Given the description of an element on the screen output the (x, y) to click on. 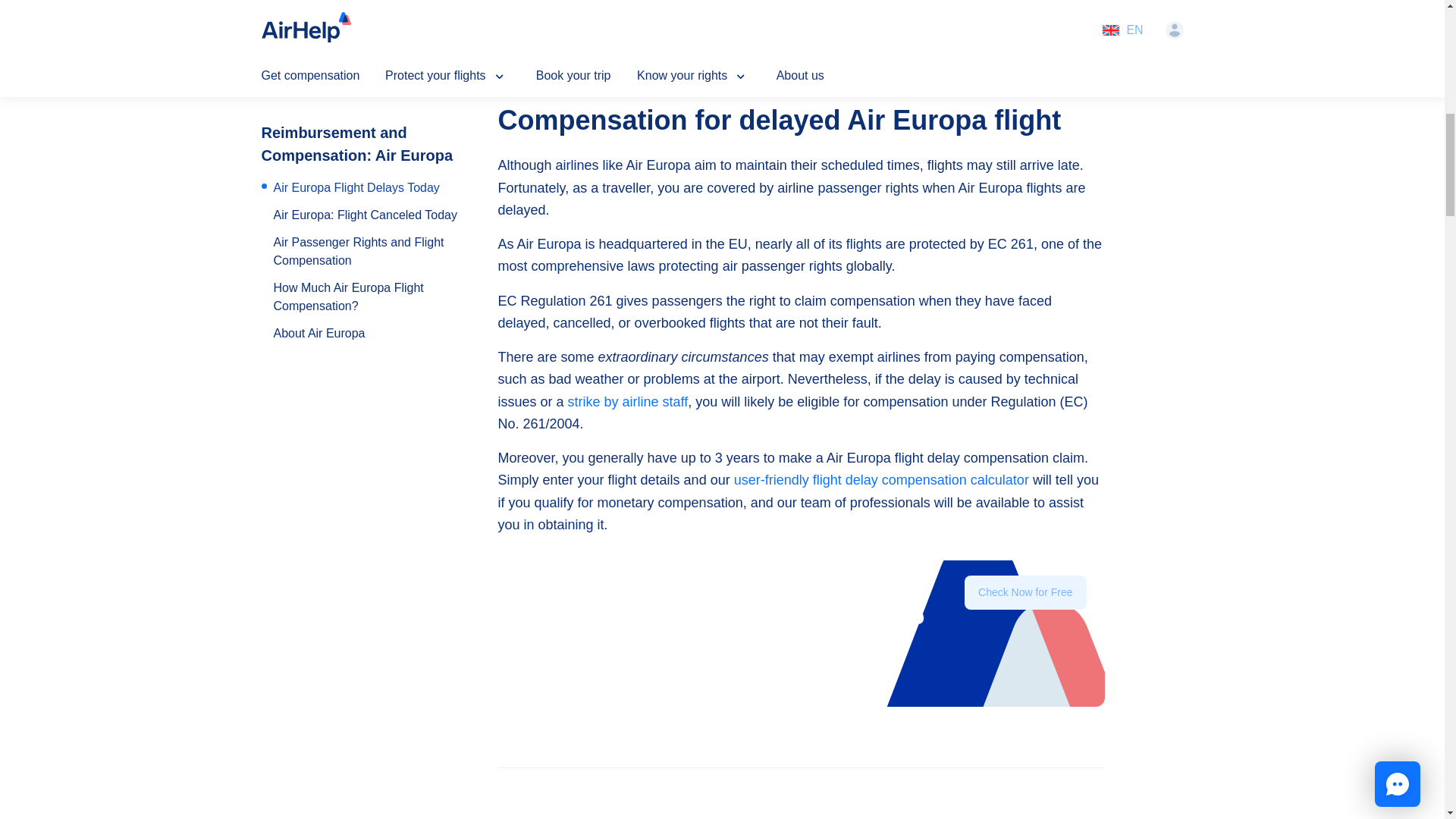
Check Now for Free (1024, 592)
Check here (662, 15)
To find out more about Air Europa punctuality (670, 49)
strike by airline staff (627, 401)
Check Now for Free (1024, 616)
user-friendly flight delay compensation calculator (881, 479)
